Given the description of an element on the screen output the (x, y) to click on. 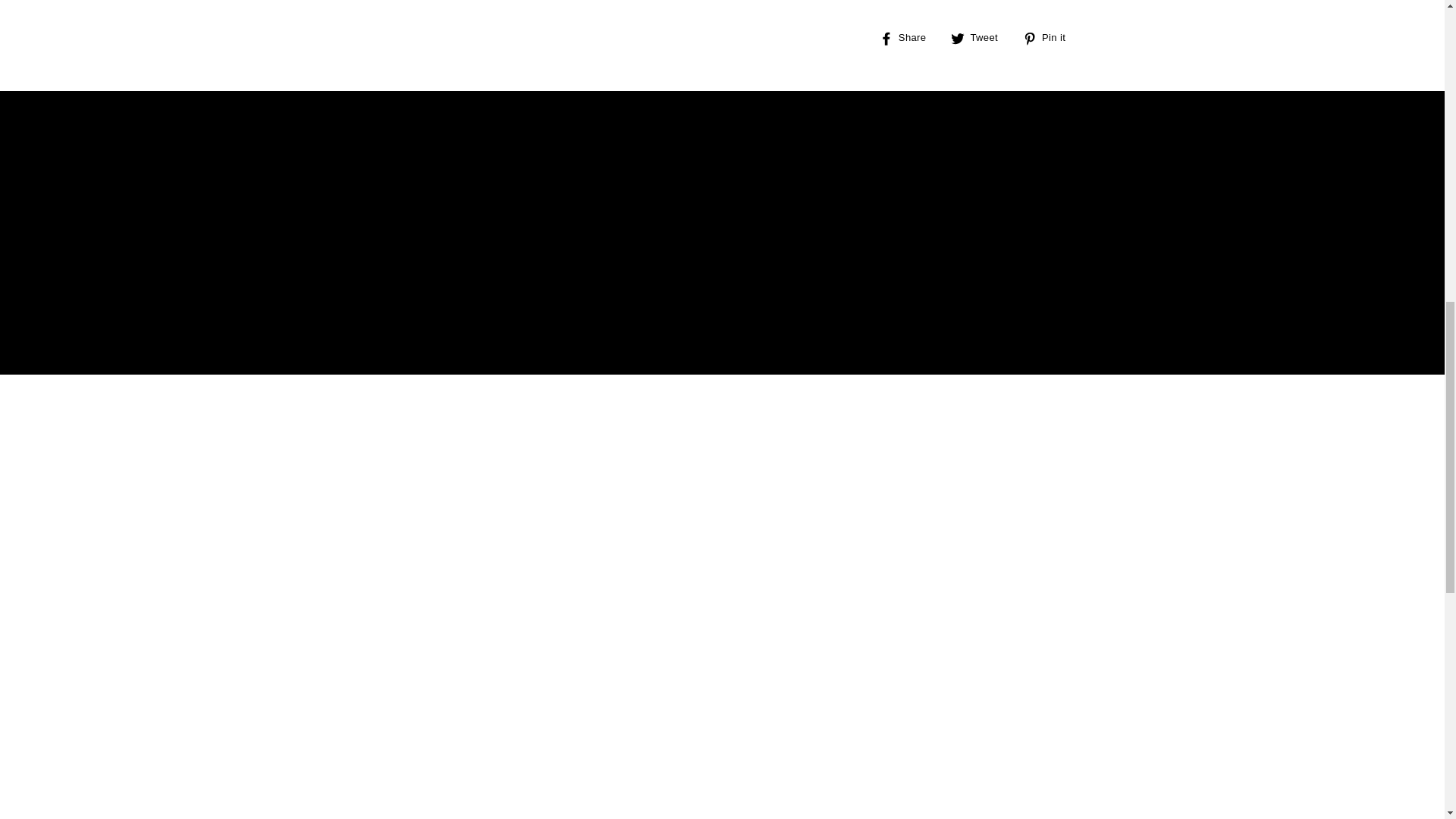
Share on Facebook (908, 38)
MENU (162, 46)
Pin on Pinterest (1050, 38)
Tweet on Twitter (979, 38)
